Given the description of an element on the screen output the (x, y) to click on. 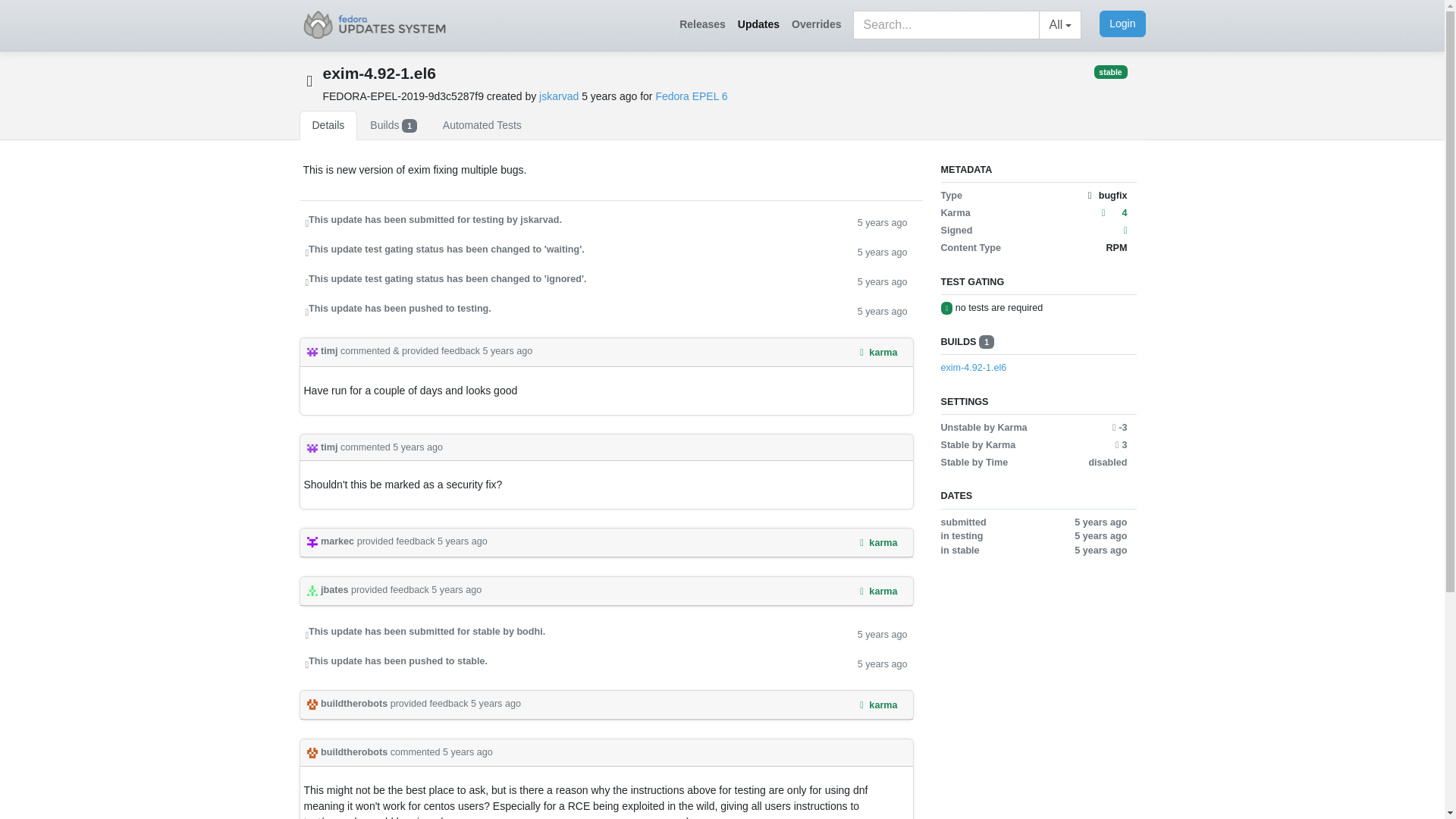
All (1060, 24)
Overrides (816, 24)
5 years ago (455, 589)
markec (330, 541)
5 years ago (882, 633)
Details (327, 125)
timj (322, 350)
Login (1121, 23)
Builds 1 (392, 125)
2019-06-05 09:33:20.473214 UTC (610, 96)
exim-4.92-1.el6 (1033, 368)
The update will be marked as unstable when karma reaches -3  (1119, 427)
5 years ago (882, 280)
